Given the description of an element on the screen output the (x, y) to click on. 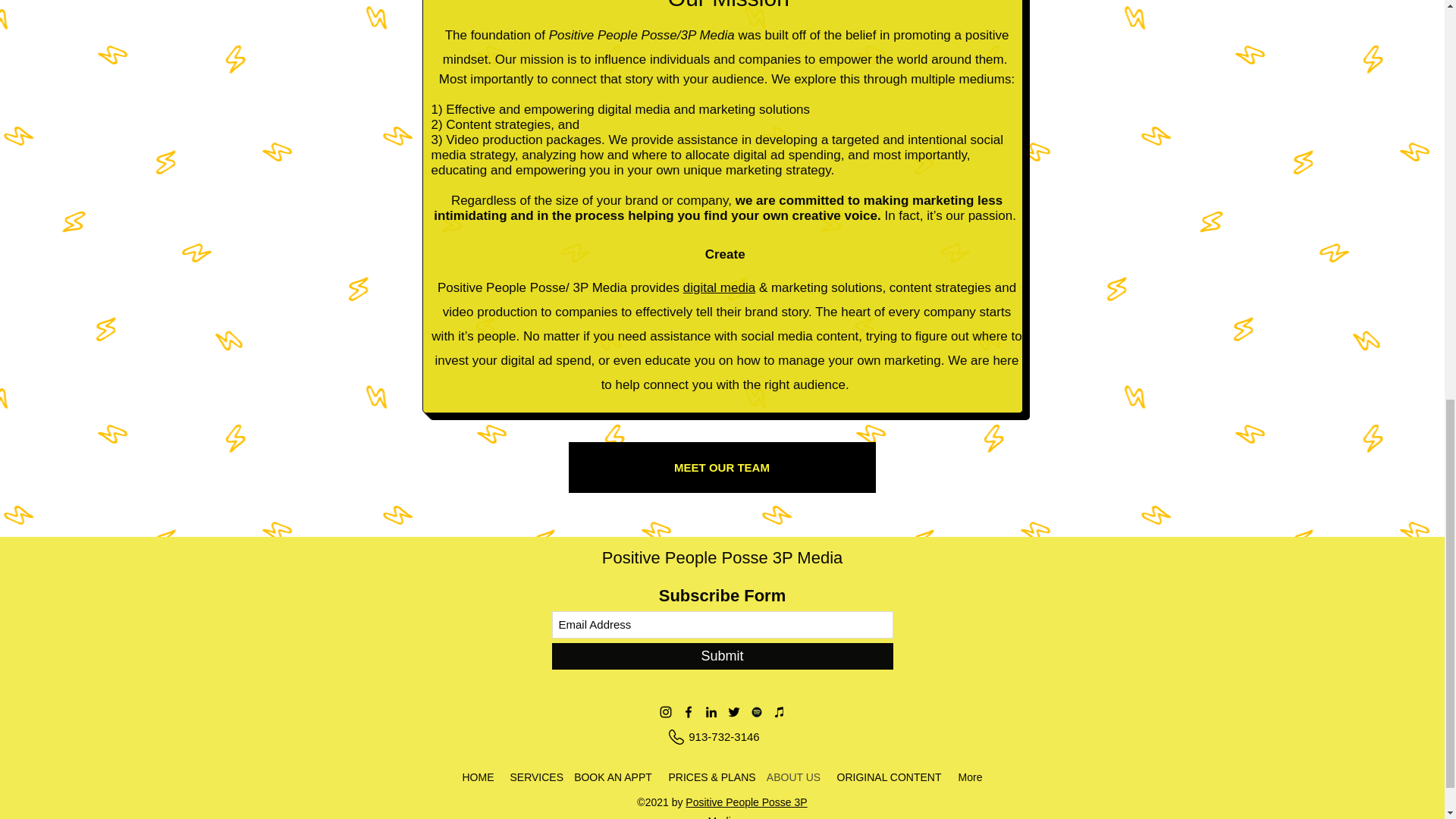
Submit (722, 655)
ABOUT US (793, 777)
digital media (718, 287)
SERVICES (533, 777)
ORIGINAL CONTENT (888, 777)
MEET OUR TEAM (722, 467)
HOME (477, 777)
Positive People Posse 3P Media (722, 557)
BOOK AN APPT (613, 777)
